Given the description of an element on the screen output the (x, y) to click on. 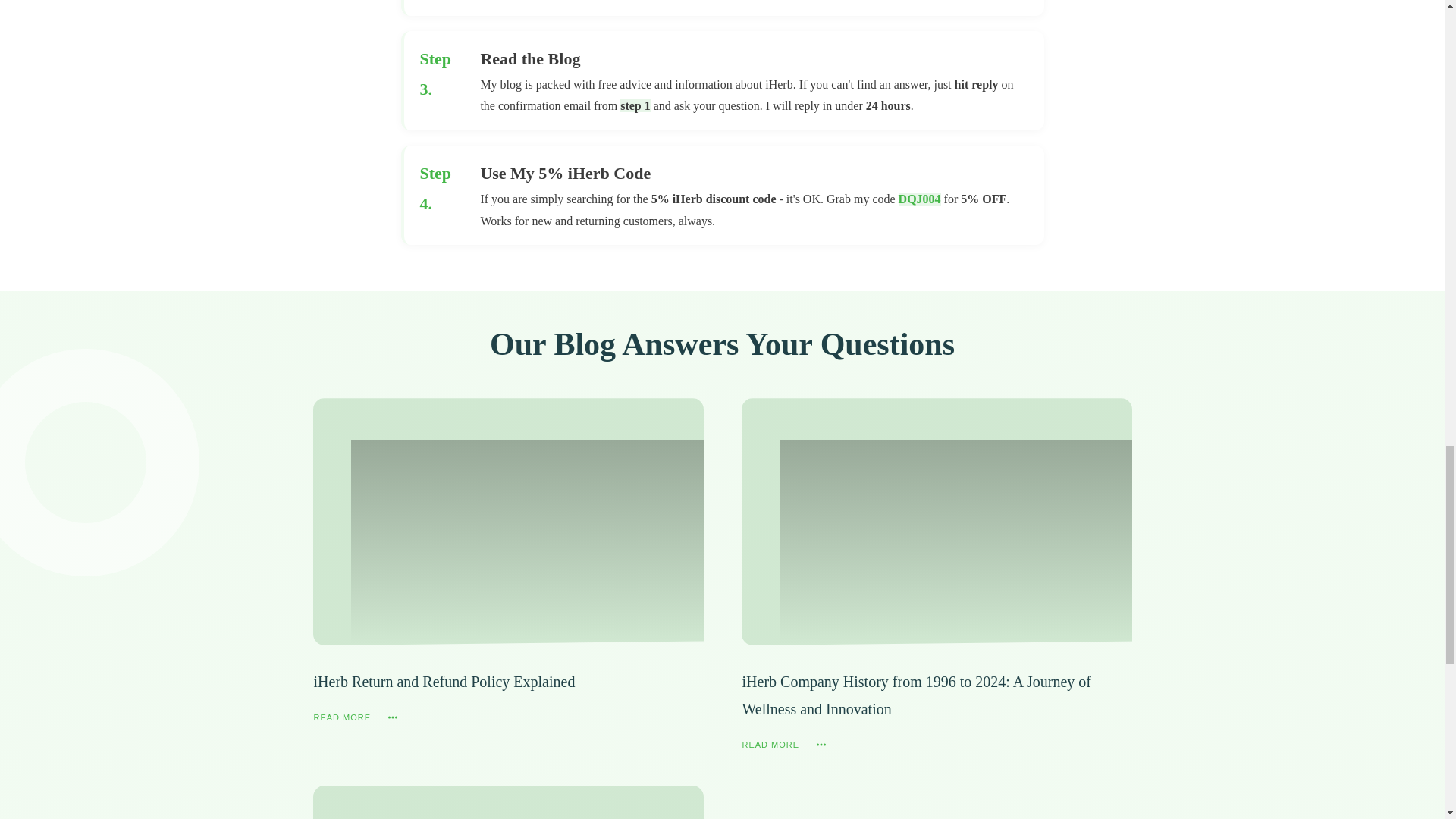
DQJ004 (919, 198)
READ MORE (786, 744)
iHerb Return and Refund Policy Explained (444, 681)
iHerb Return and Refund Policy Explained (444, 681)
READ MORE (359, 717)
